Given the description of an element on the screen output the (x, y) to click on. 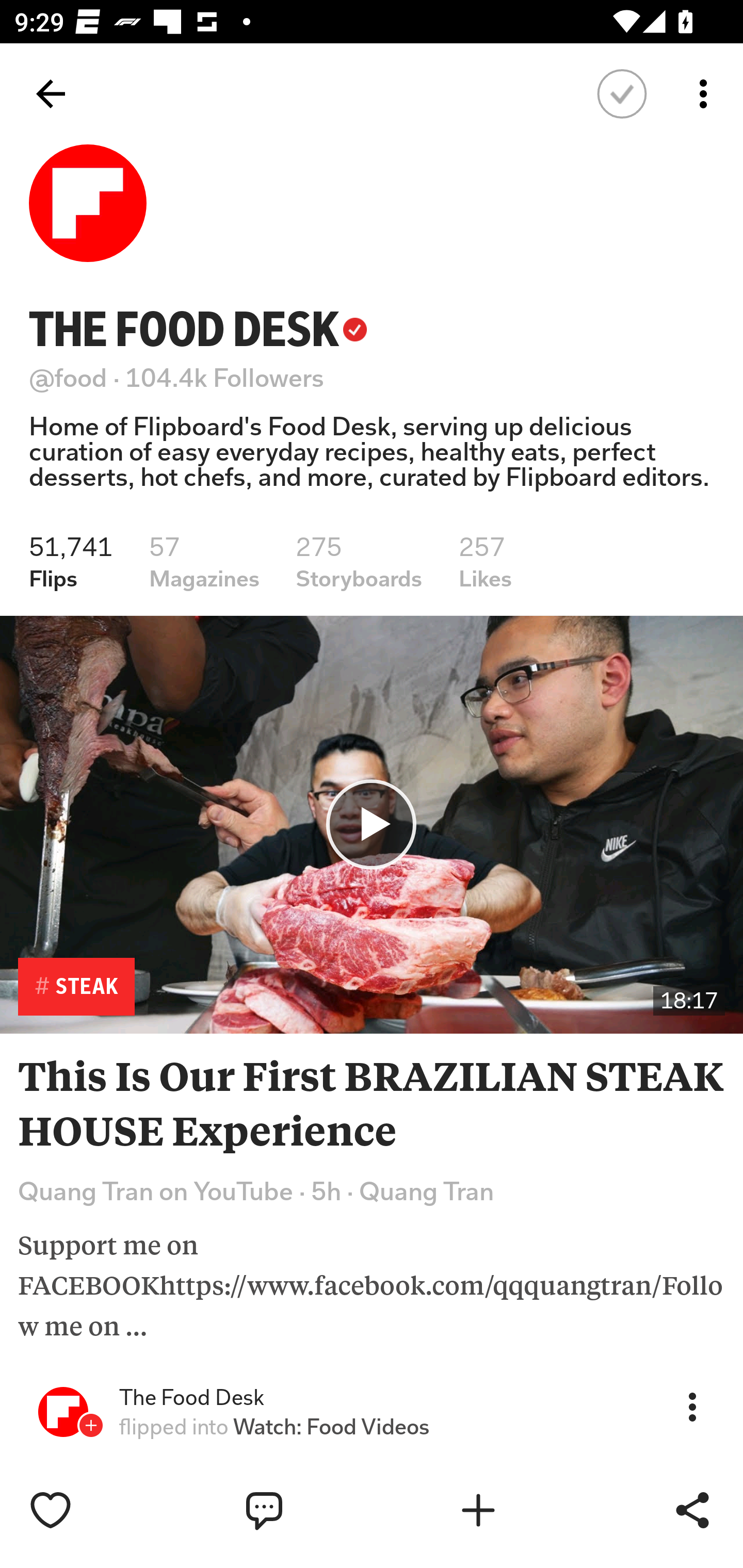
Back (50, 93)
More options (706, 93)
Following (622, 93)
THE FOOD DESK (197, 328)
@food (67, 377)
104.4k Followers (224, 377)
51,741 Flips (70, 562)
57 Magazines (203, 562)
275 Storyboards (358, 562)
257 Likes (485, 562)
# STEAK (75, 987)
The Food Desk (191, 1397)
flipped into Watch: Food Videos (273, 1426)
Like (93, 1509)
Write a comment… (307, 1509)
Flip into Magazine (521, 1509)
Share (692, 1509)
